Given the description of an element on the screen output the (x, y) to click on. 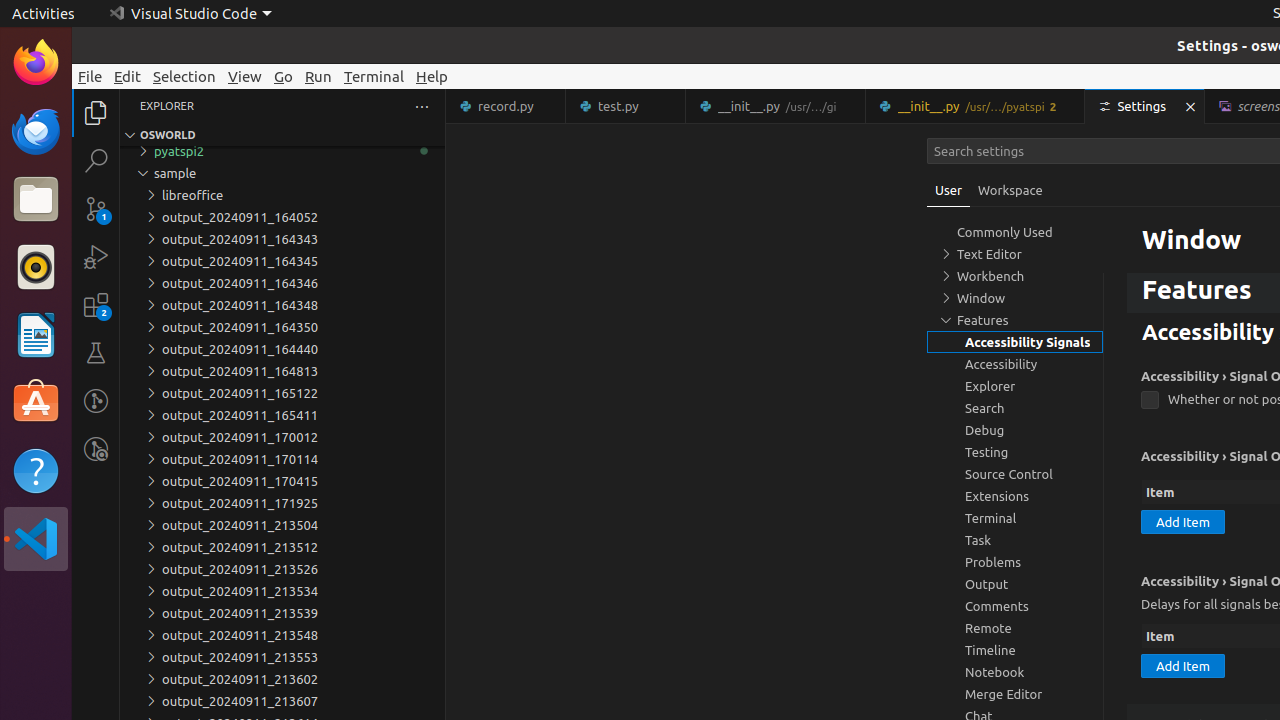
__init__.py Element type: page-tab (975, 106)
Accessibility Signals, group Element type: tree-item (1015, 342)
Workspace Element type: check-box (1010, 190)
test.py Element type: page-tab (626, 106)
Explorer, group Element type: tree-item (1015, 386)
